Given the description of an element on the screen output the (x, y) to click on. 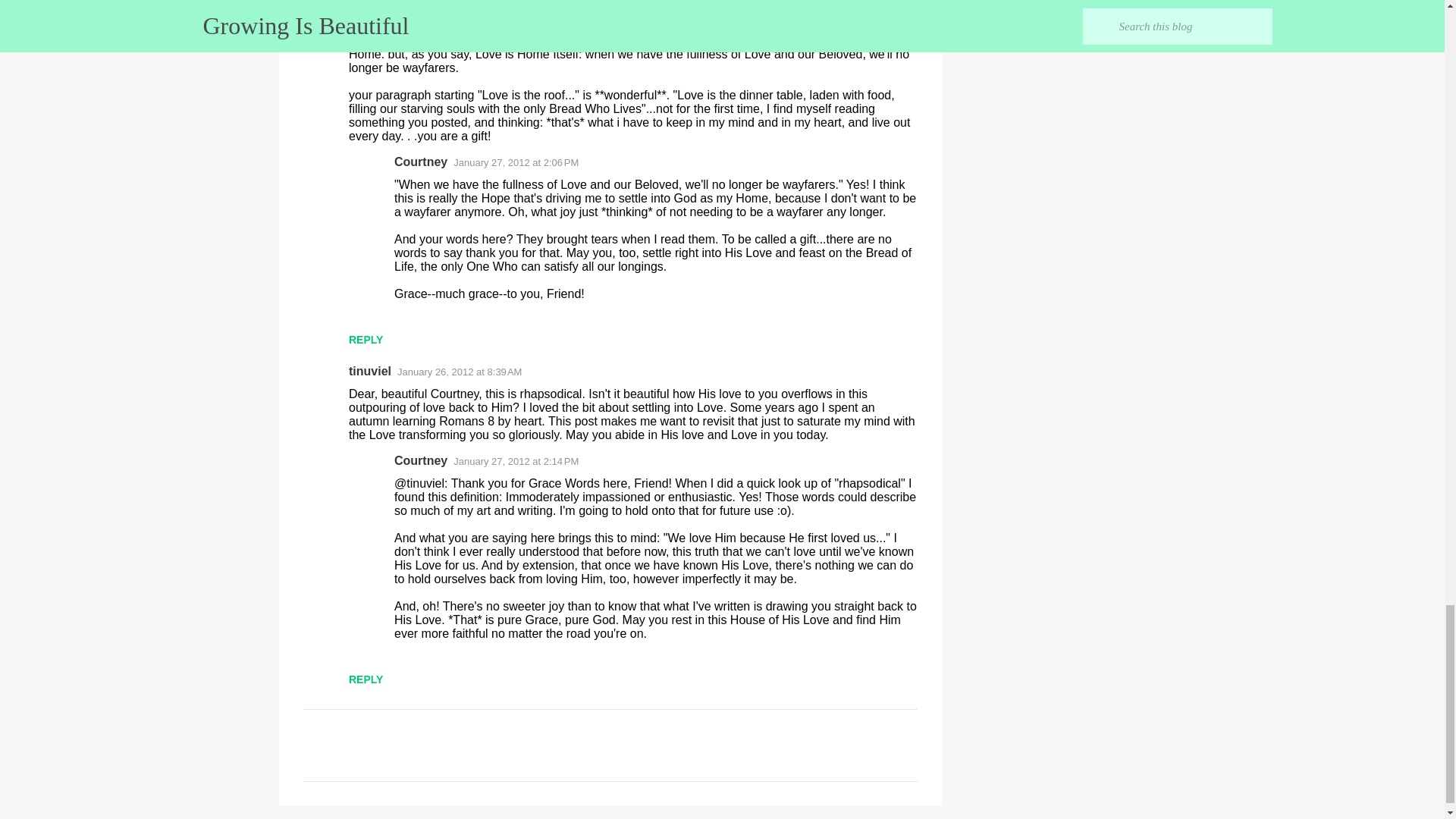
REPLY (365, 339)
chris (363, 5)
tinuviel (370, 370)
Courtney (420, 460)
Courtney (420, 161)
REPLY (365, 679)
